Given the description of an element on the screen output the (x, y) to click on. 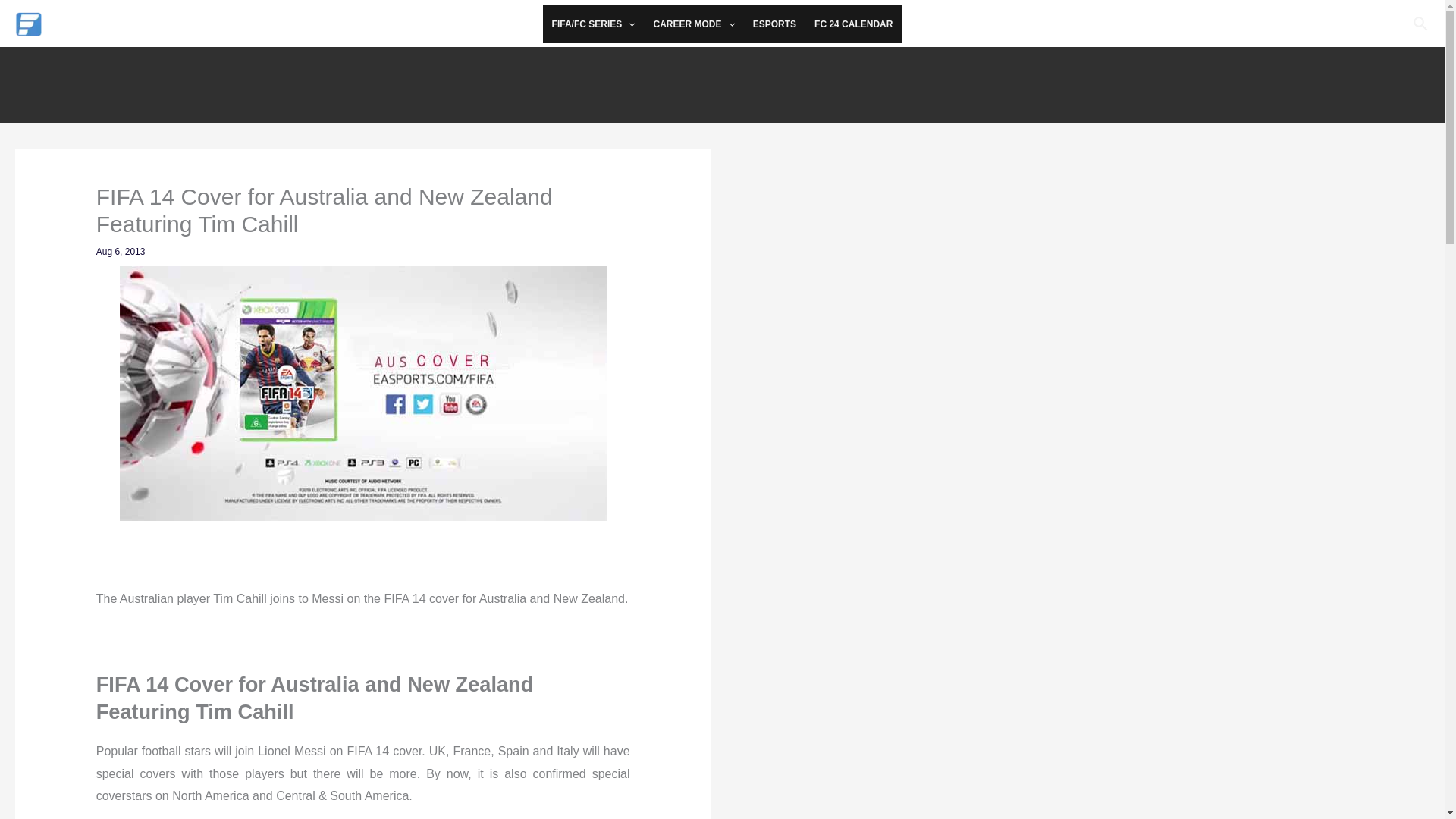
Advertisement (1092, 266)
CAREER MODE (692, 23)
FC 24 CALENDAR (853, 23)
ESPORTS (774, 23)
Advertisement (721, 80)
